Given the description of an element on the screen output the (x, y) to click on. 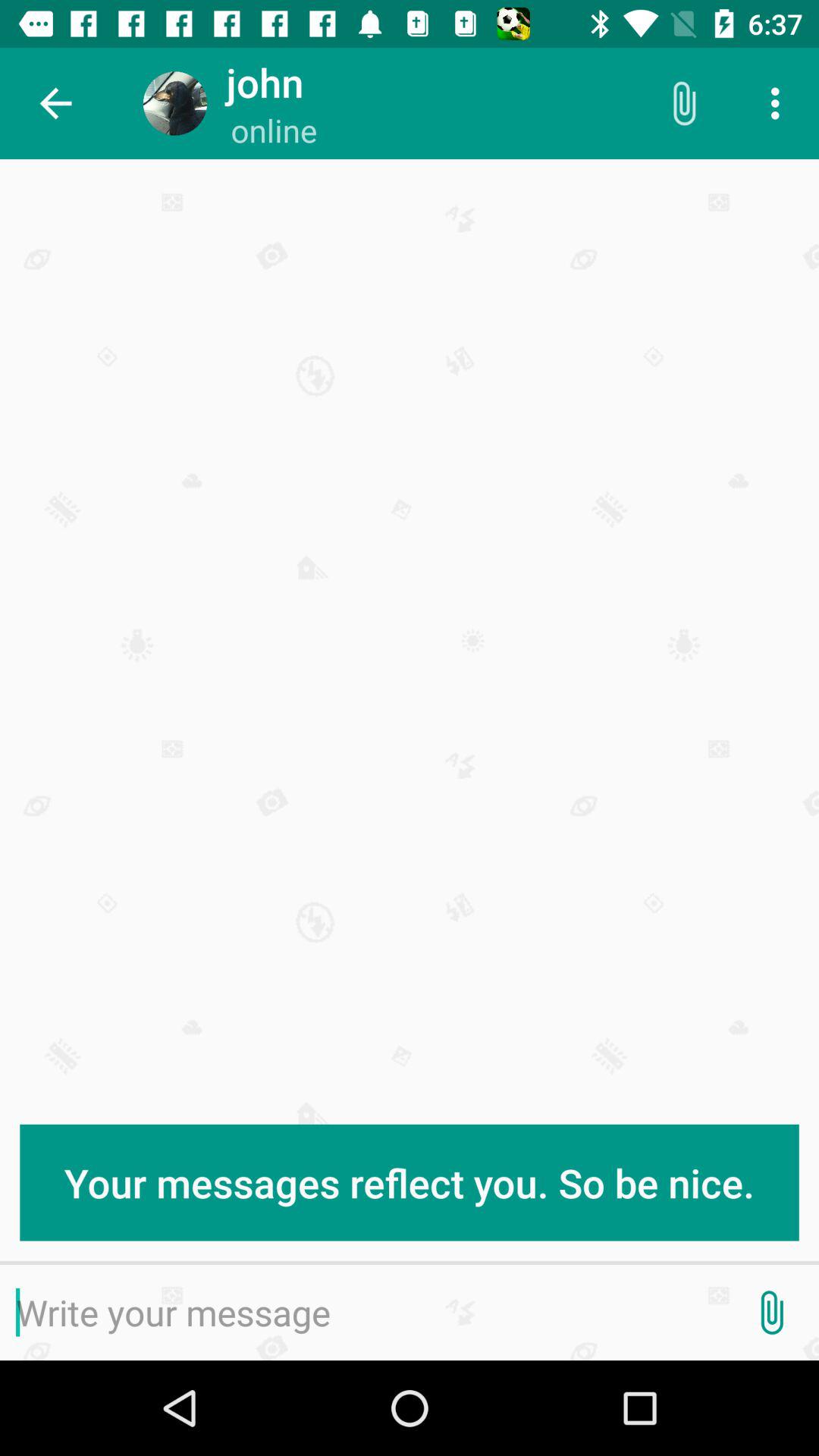
select the icon to the right of    online icon (683, 103)
